Given the description of an element on the screen output the (x, y) to click on. 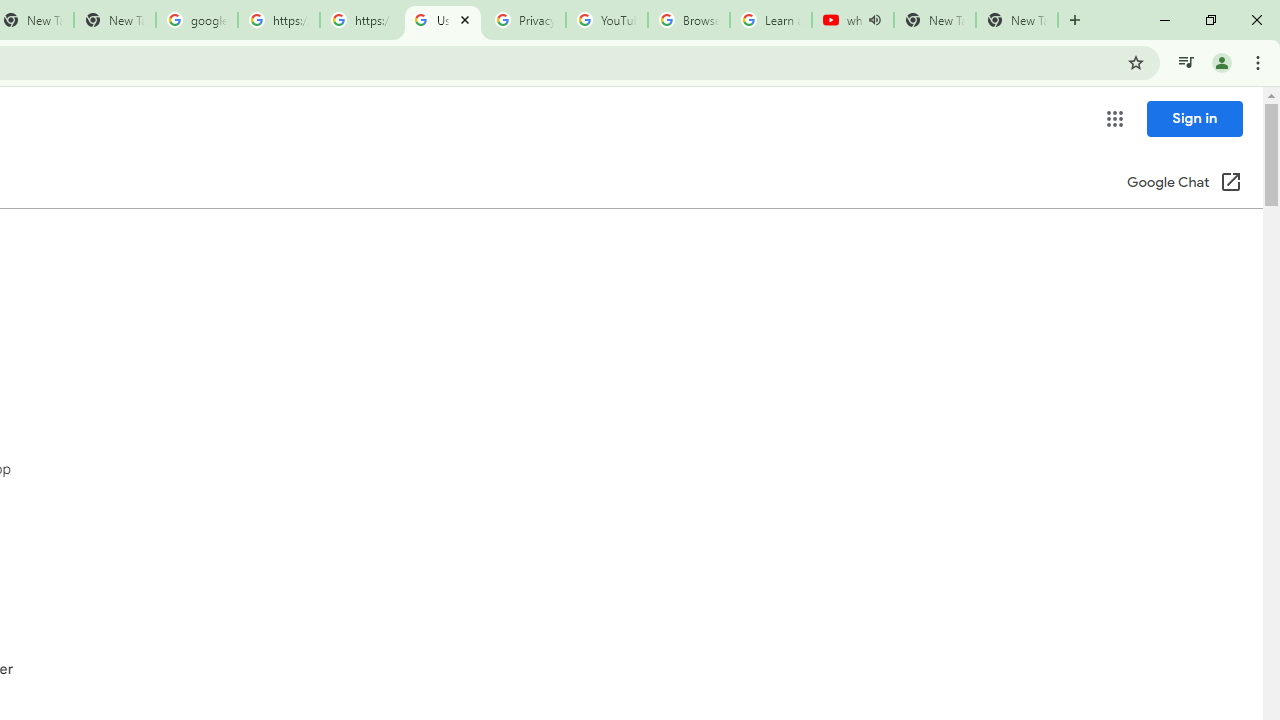
New Tab (1016, 20)
Google Chat (Open in a new window) (1184, 183)
